Given the description of an element on the screen output the (x, y) to click on. 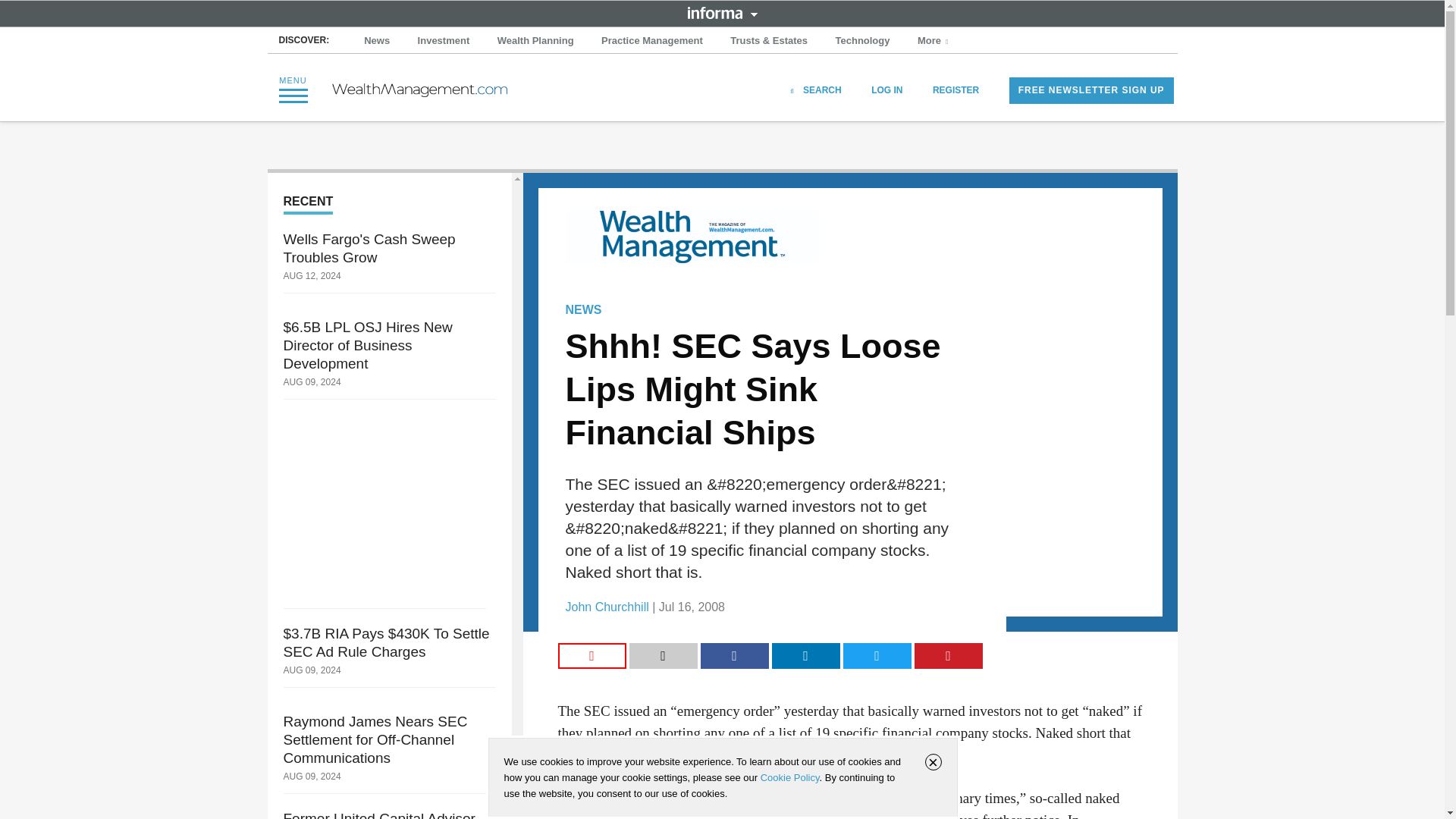
Practice Management (652, 41)
Investment (444, 41)
INFORMA (722, 12)
More (934, 41)
News (377, 41)
Wealth Planning (535, 41)
Technology (862, 41)
Cookie Policy (789, 777)
